Given the description of an element on the screen output the (x, y) to click on. 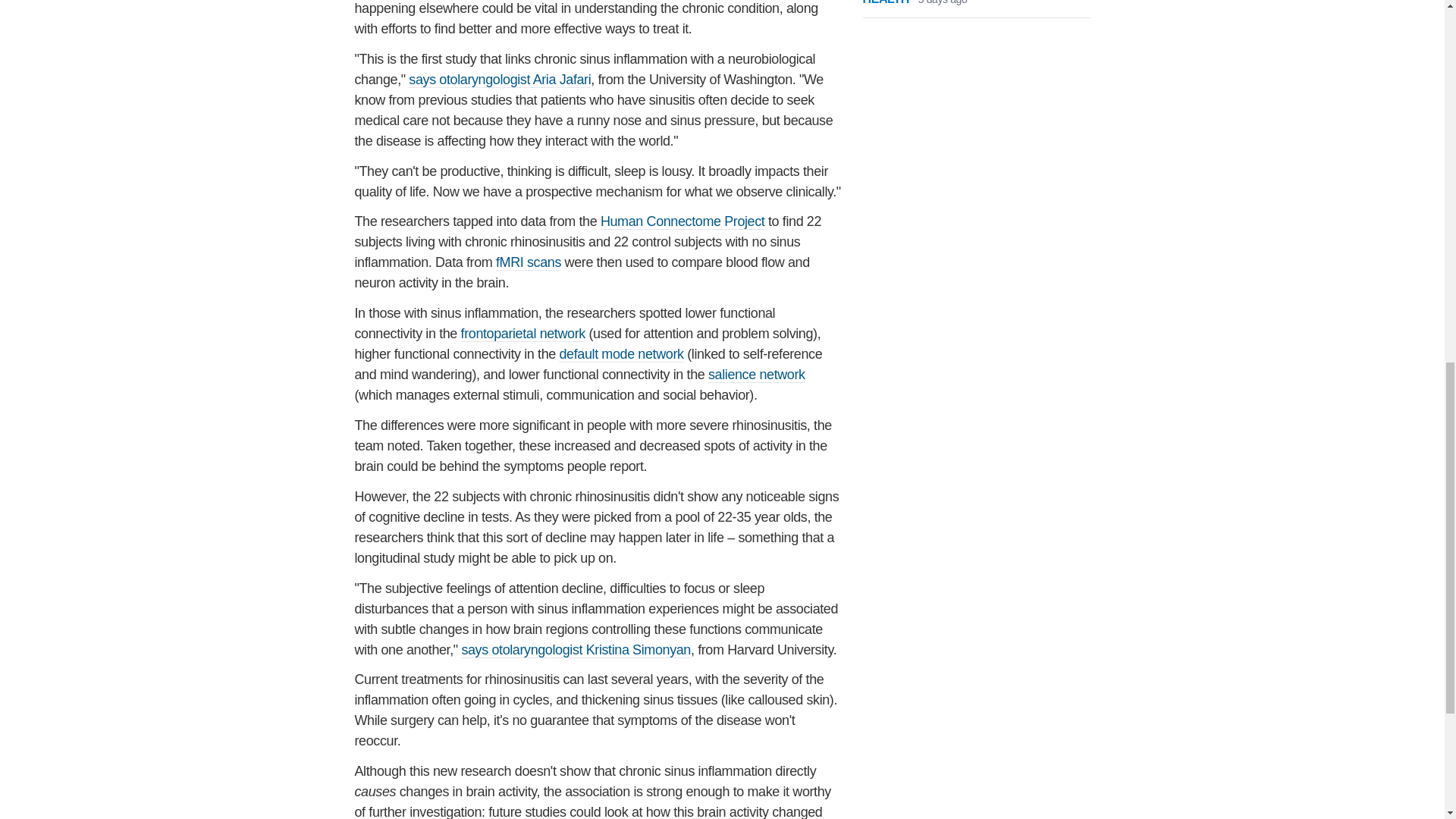
Human Connectome Project (682, 221)
says otolaryngologist Aria Jafari (500, 79)
default mode network (620, 354)
salience network (756, 374)
fMRI scans (528, 262)
frontoparietal network (523, 333)
